Given the description of an element on the screen output the (x, y) to click on. 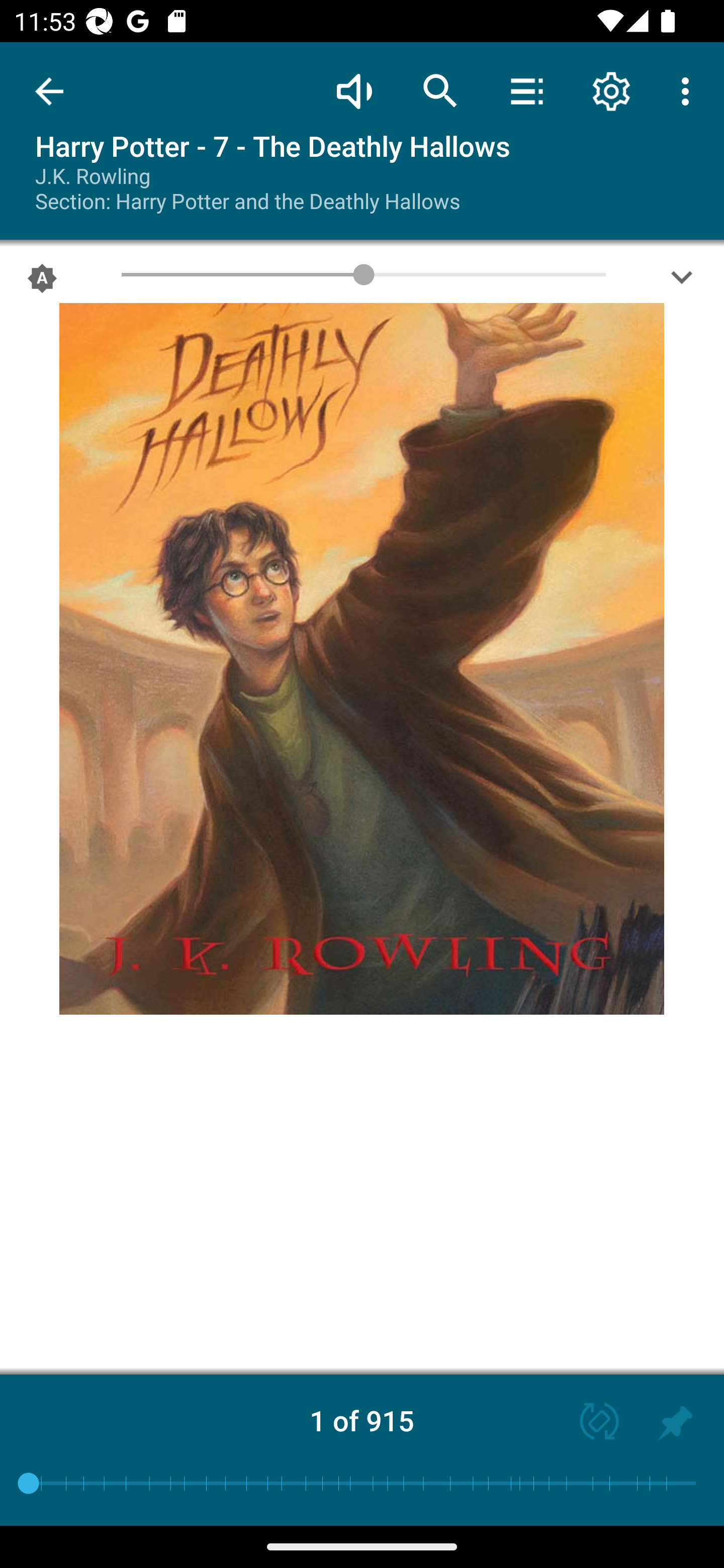
Exit reading (49, 91)
Read aloud (354, 90)
Text search (440, 90)
Contents / Bookmarks / Quotes (526, 90)
Reading settings (611, 90)
More options (688, 90)
Selected screen brightness (42, 281)
Screen brightness settings (681, 281)
1 of 915 (361, 1420)
Screen orientation (590, 1423)
Add to history (674, 1423)
